Given the description of an element on the screen output the (x, y) to click on. 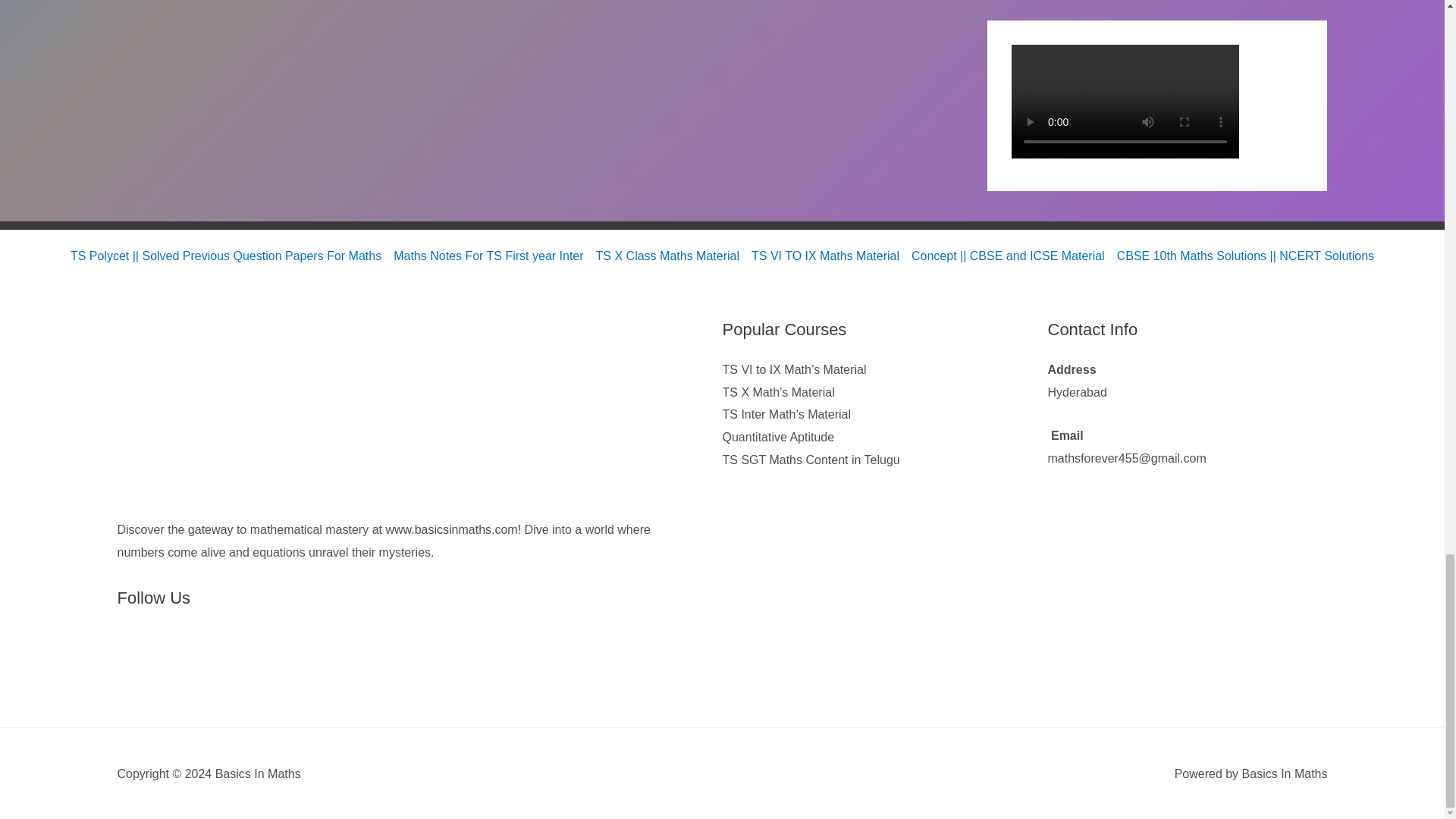
Facebook (202, 662)
RSS (134, 662)
Follow by Email (169, 662)
